Given the description of an element on the screen output the (x, y) to click on. 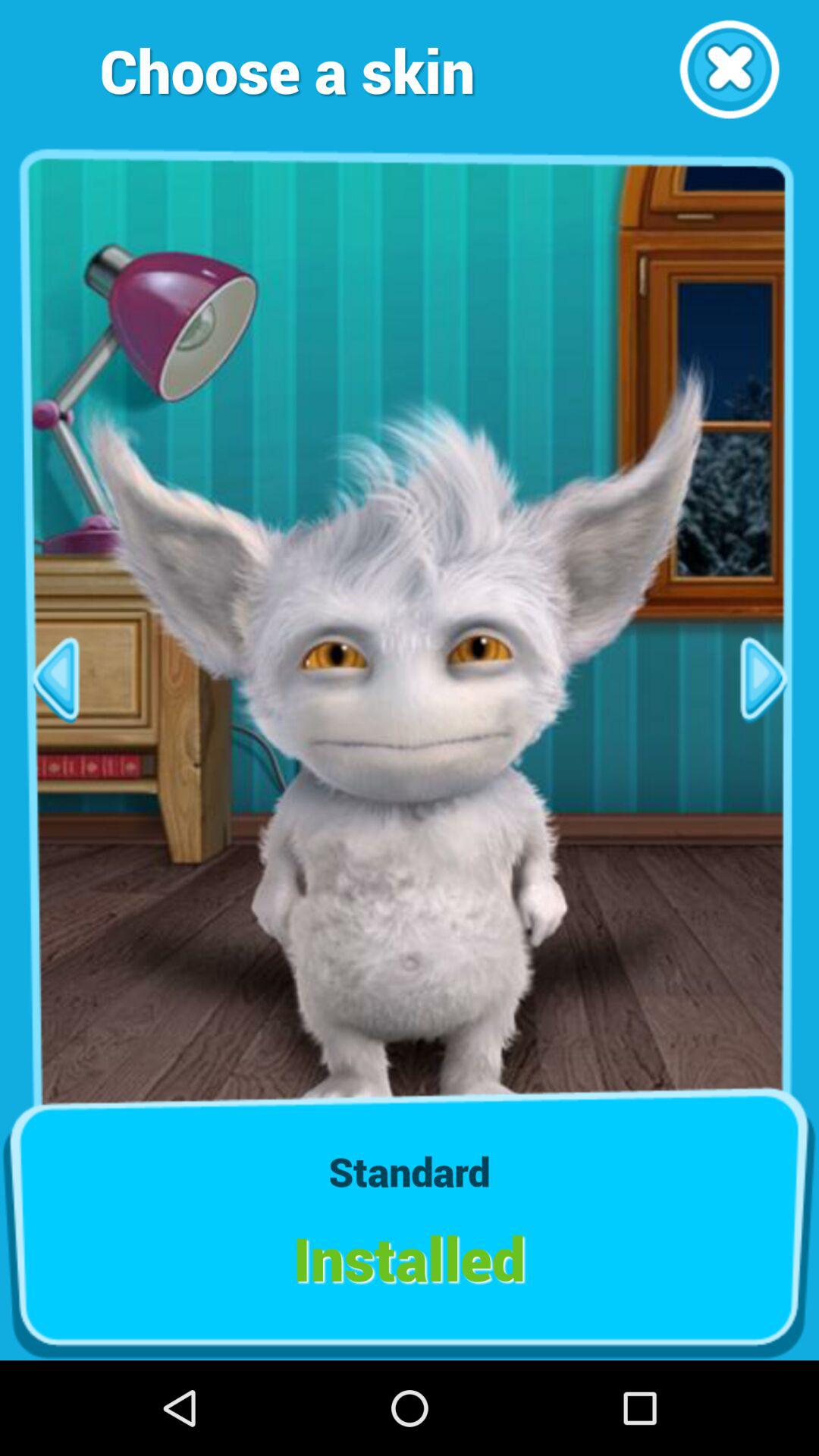
go back (55, 679)
